Given the description of an element on the screen output the (x, y) to click on. 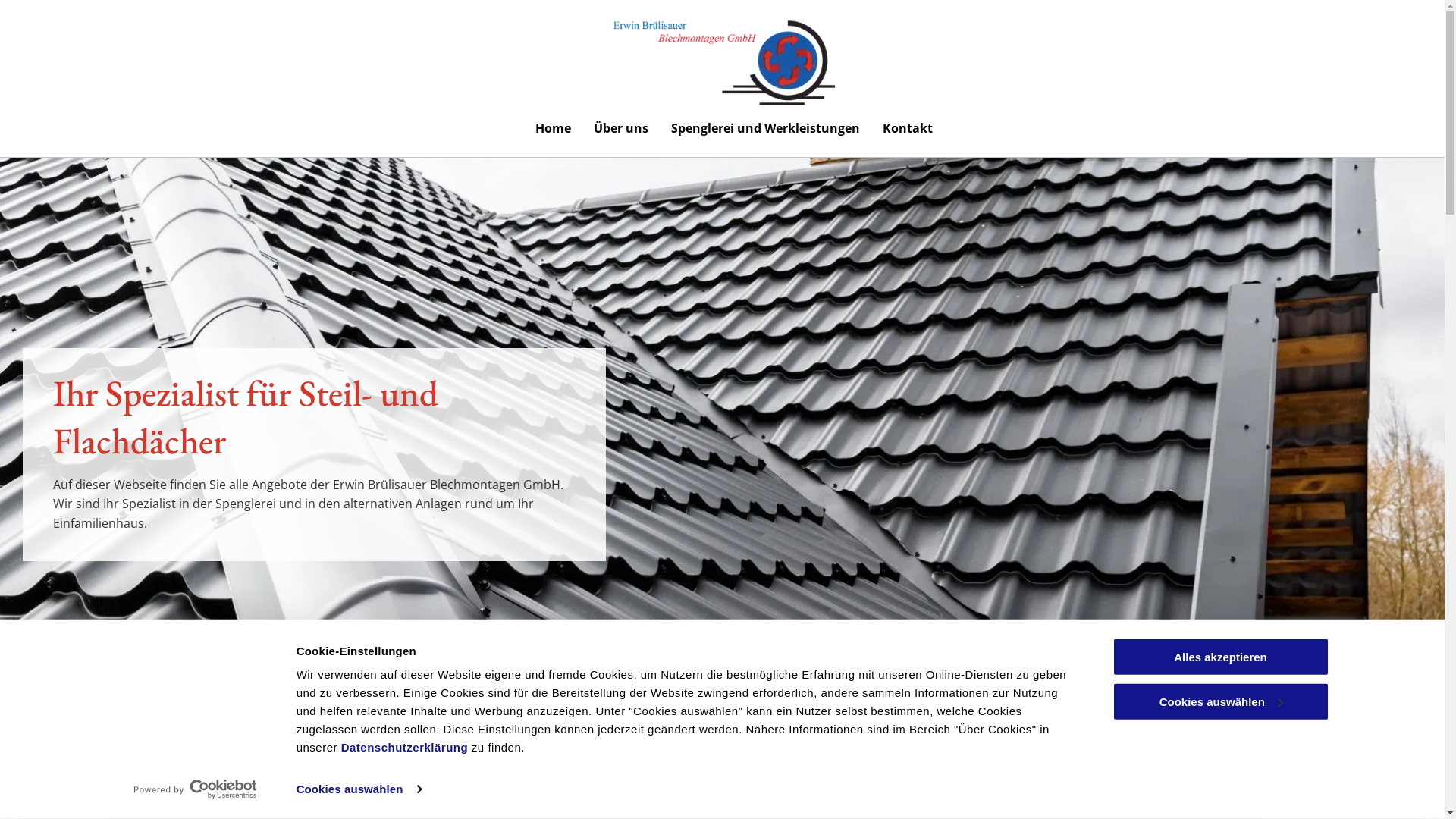
Cookies Element type: text (55, 782)
Spenglerei und Werkleistungen Element type: text (765, 127)
Alles akzeptieren Element type: text (1219, 656)
Kontakt Element type: text (906, 127)
Home Element type: text (552, 127)
